Given the description of an element on the screen output the (x, y) to click on. 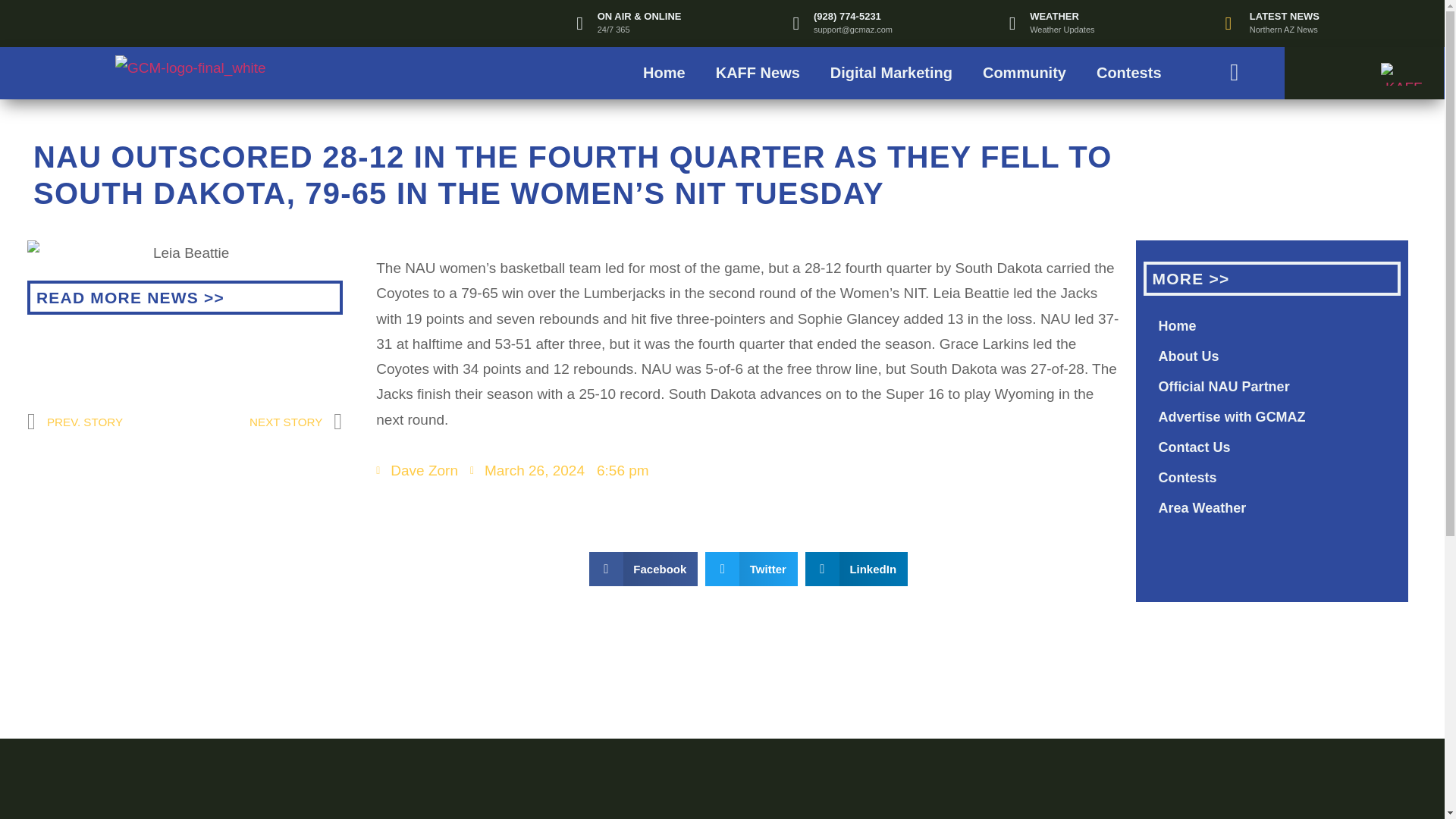
LATEST NEWS (1284, 16)
WEATHER (1053, 16)
Digital Marketing (891, 72)
Community (1024, 72)
Home (663, 72)
KAFF News (757, 72)
Leia Beattie (184, 252)
Contests (1128, 72)
